Given the description of an element on the screen output the (x, y) to click on. 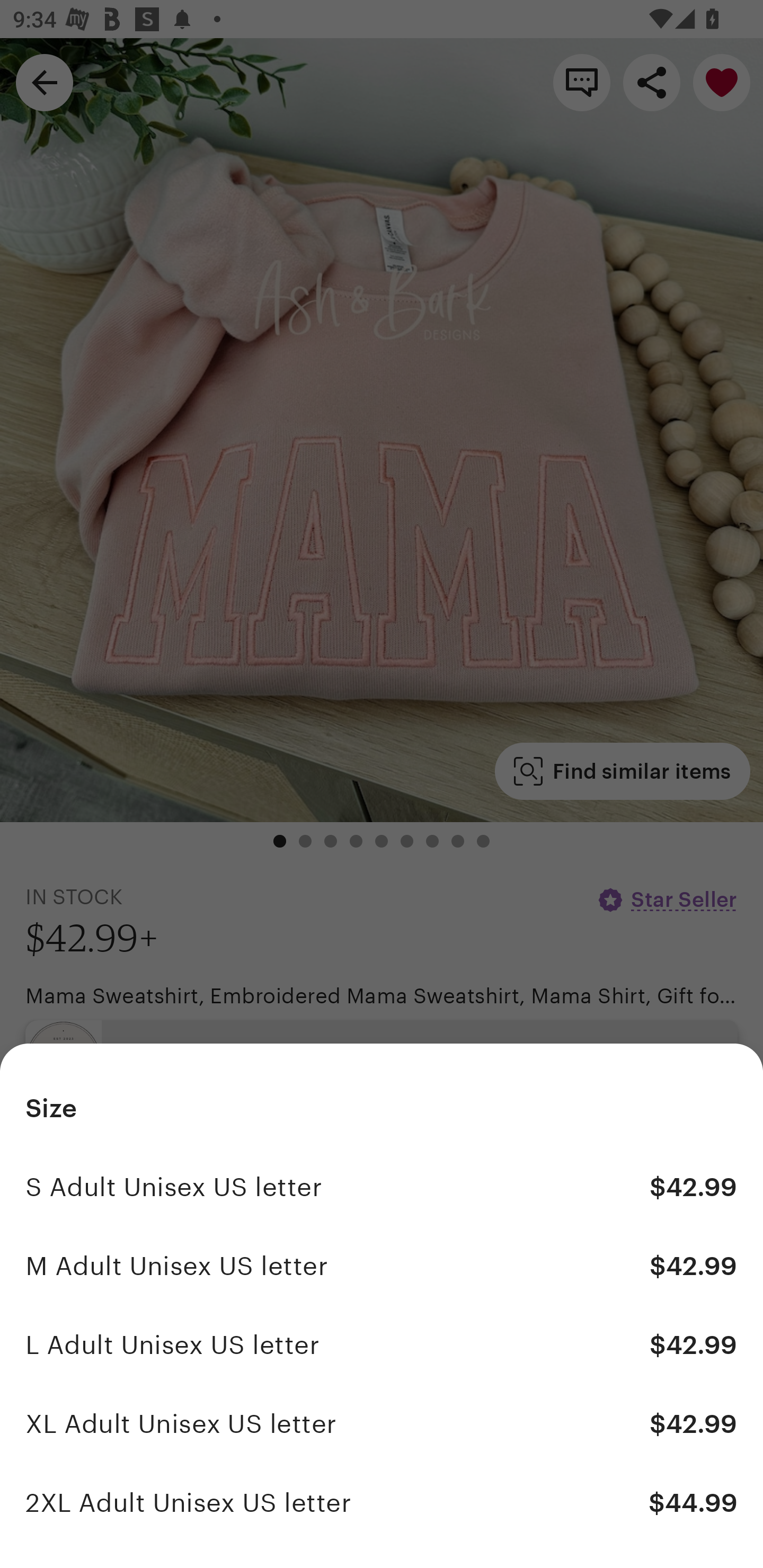
S Adult Unisex US letter $42.99 (381, 1186)
M Adult Unisex US letter $42.99 (381, 1266)
L Adult Unisex US letter $42.99 (381, 1345)
XL Adult Unisex US letter $42.99 (381, 1423)
2XL Adult Unisex US letter $44.99 (381, 1502)
